Given the description of an element on the screen output the (x, y) to click on. 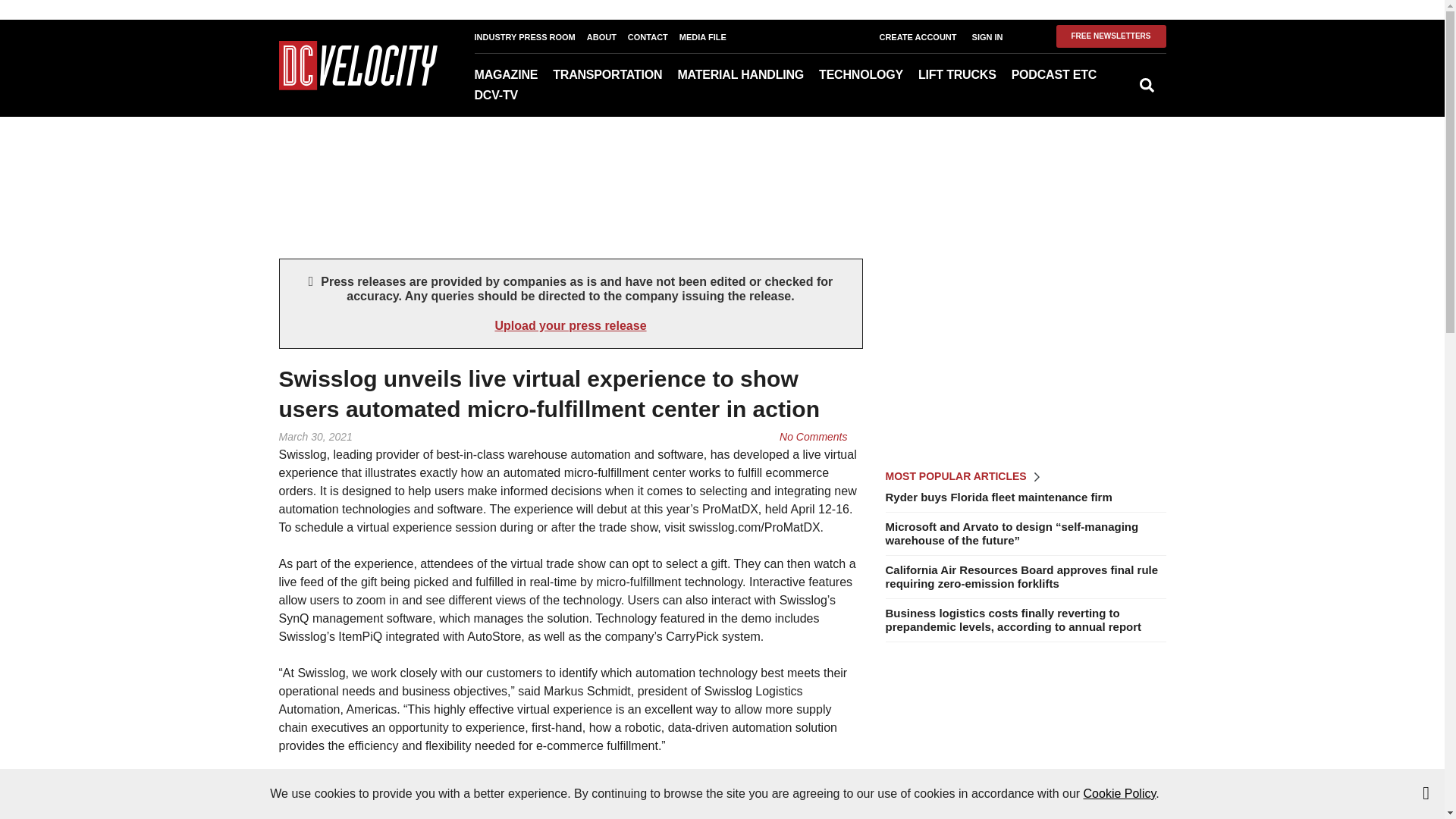
3rd party ad content (1024, 352)
3rd party ad content (1024, 742)
3rd party ad content (721, 165)
